Given the description of an element on the screen output the (x, y) to click on. 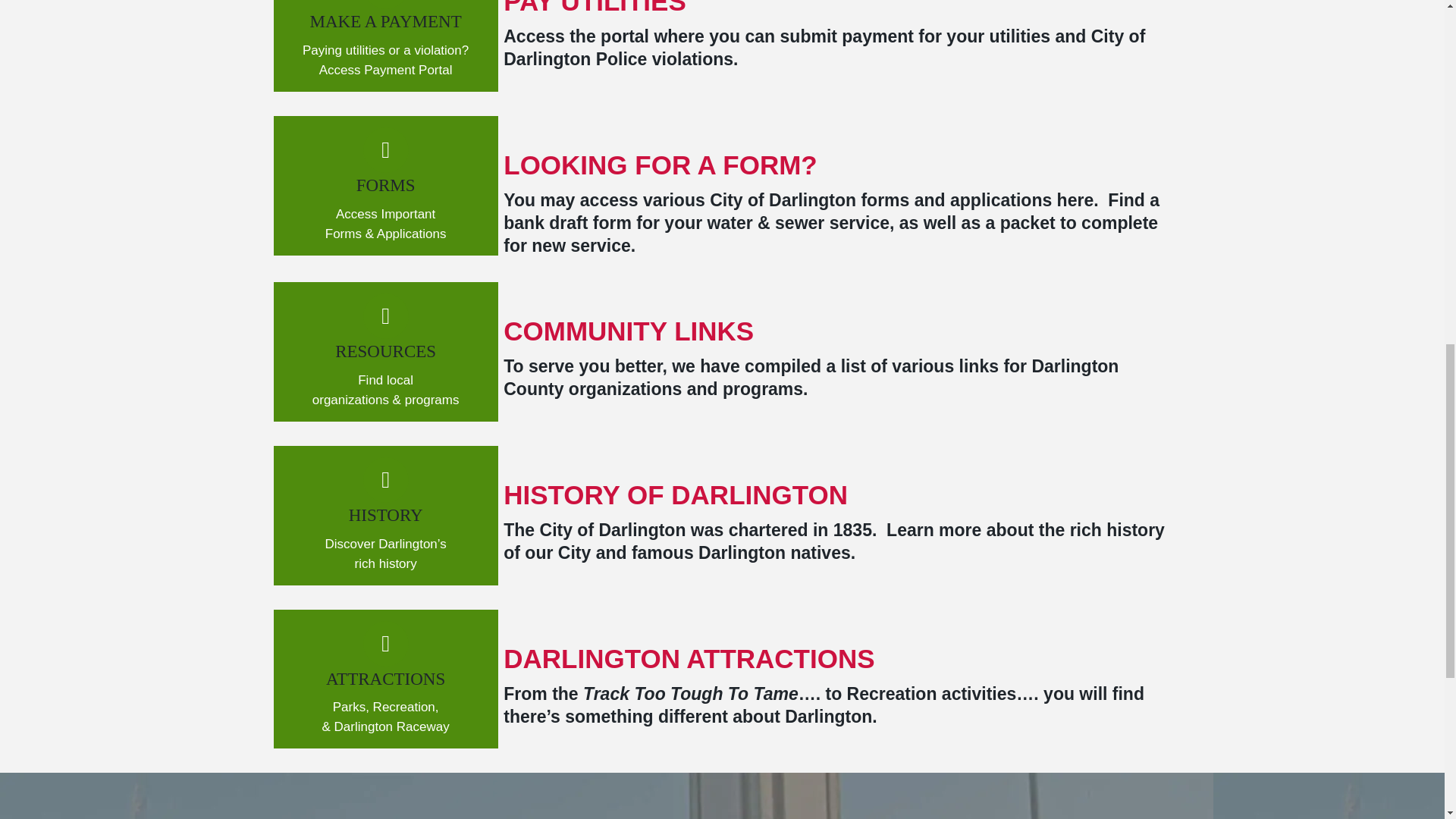
MAKE A PAYMENT (384, 21)
ATTRACTIONS (385, 678)
FORMS (385, 185)
RESOURCES (384, 351)
HISTORY (386, 515)
